Given the description of an element on the screen output the (x, y) to click on. 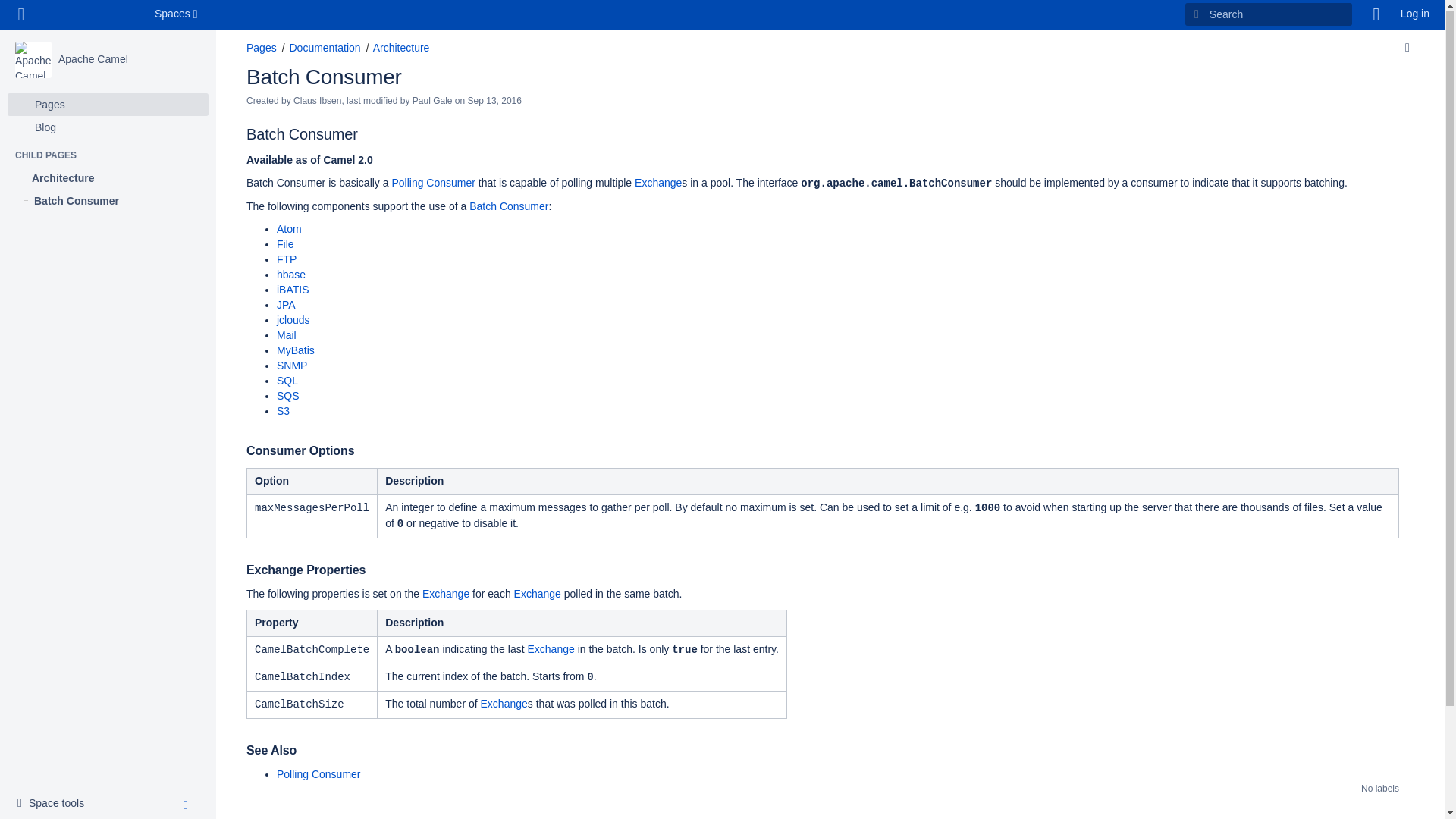
Blog (107, 126)
Architecture (107, 177)
Apache Software Foundation (90, 14)
Help (1376, 14)
Log in (1415, 14)
Apache Camel (54, 802)
Spaces (93, 58)
Pages (177, 14)
Documentation (261, 47)
